Given the description of an element on the screen output the (x, y) to click on. 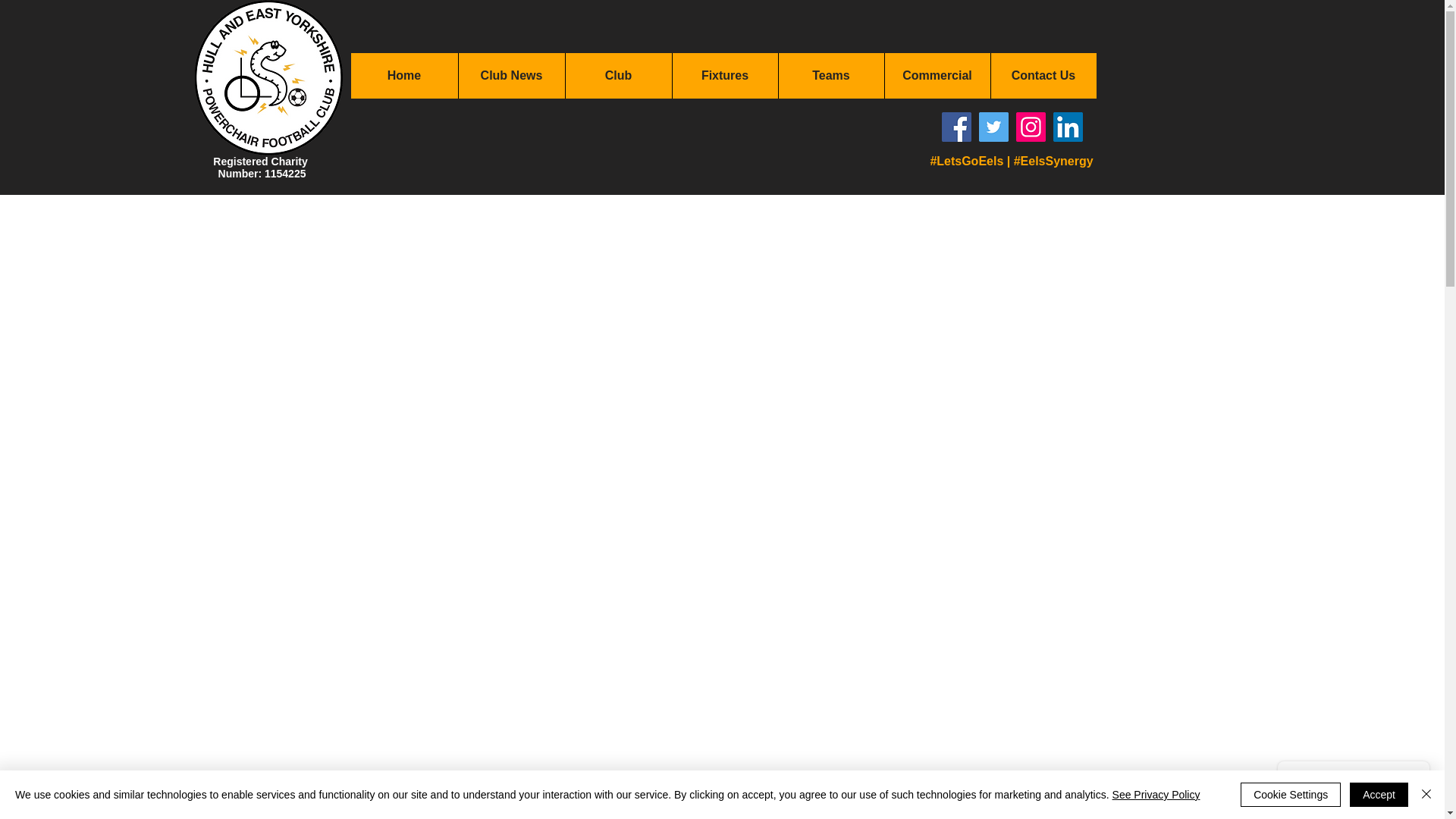
Club News (511, 75)
Club (617, 75)
Fixtures (724, 75)
Teams (830, 75)
Contact Us (1043, 75)
Home (403, 75)
Commercial (936, 75)
Accept (1378, 794)
Cookie Settings (1290, 794)
See Privacy Policy (1155, 794)
